Given the description of an element on the screen output the (x, y) to click on. 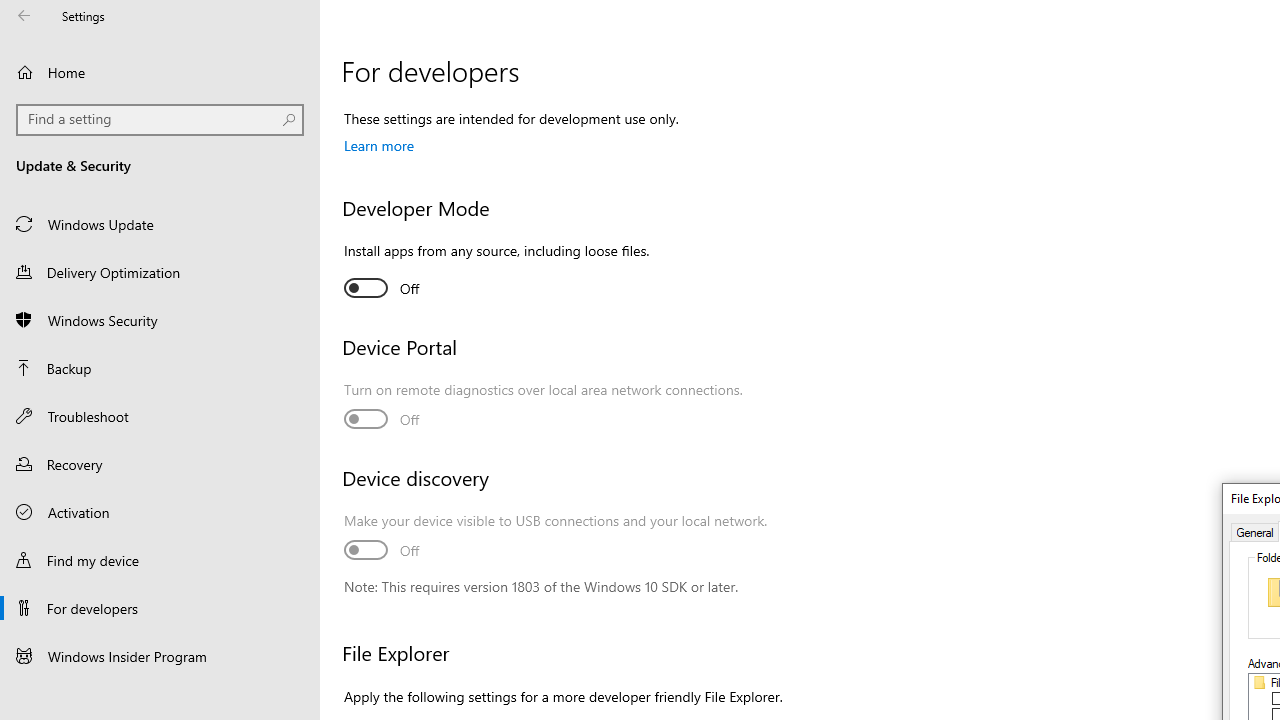
General (1255, 531)
